Given the description of an element on the screen output the (x, y) to click on. 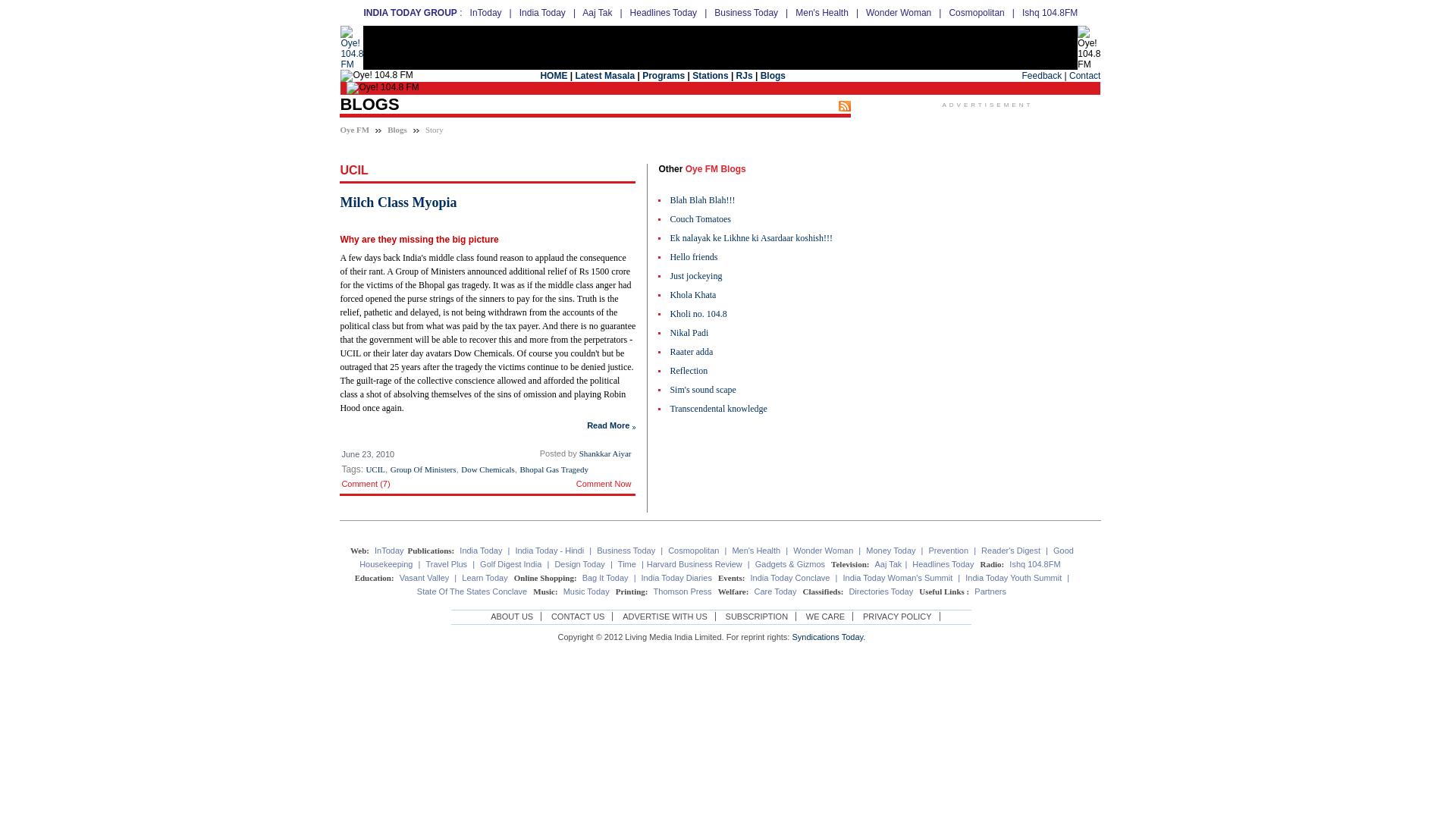
Nikal Padi (751, 336)
Programs (663, 75)
UCIL (375, 469)
Headlines Today (663, 12)
Cosmopolitan (976, 12)
INDIA TODAY GROUP (410, 12)
Feedback (1042, 75)
Wonder Woman (898, 12)
Couch Tomatoes (751, 222)
Ek nalayak ke Likhne ki Asardaar koshish!!! (751, 241)
RJs (744, 75)
Blogs (397, 129)
Kholi no. 104.8 (751, 317)
Men's Health (821, 12)
InToday (486, 12)
